Given the description of an element on the screen output the (x, y) to click on. 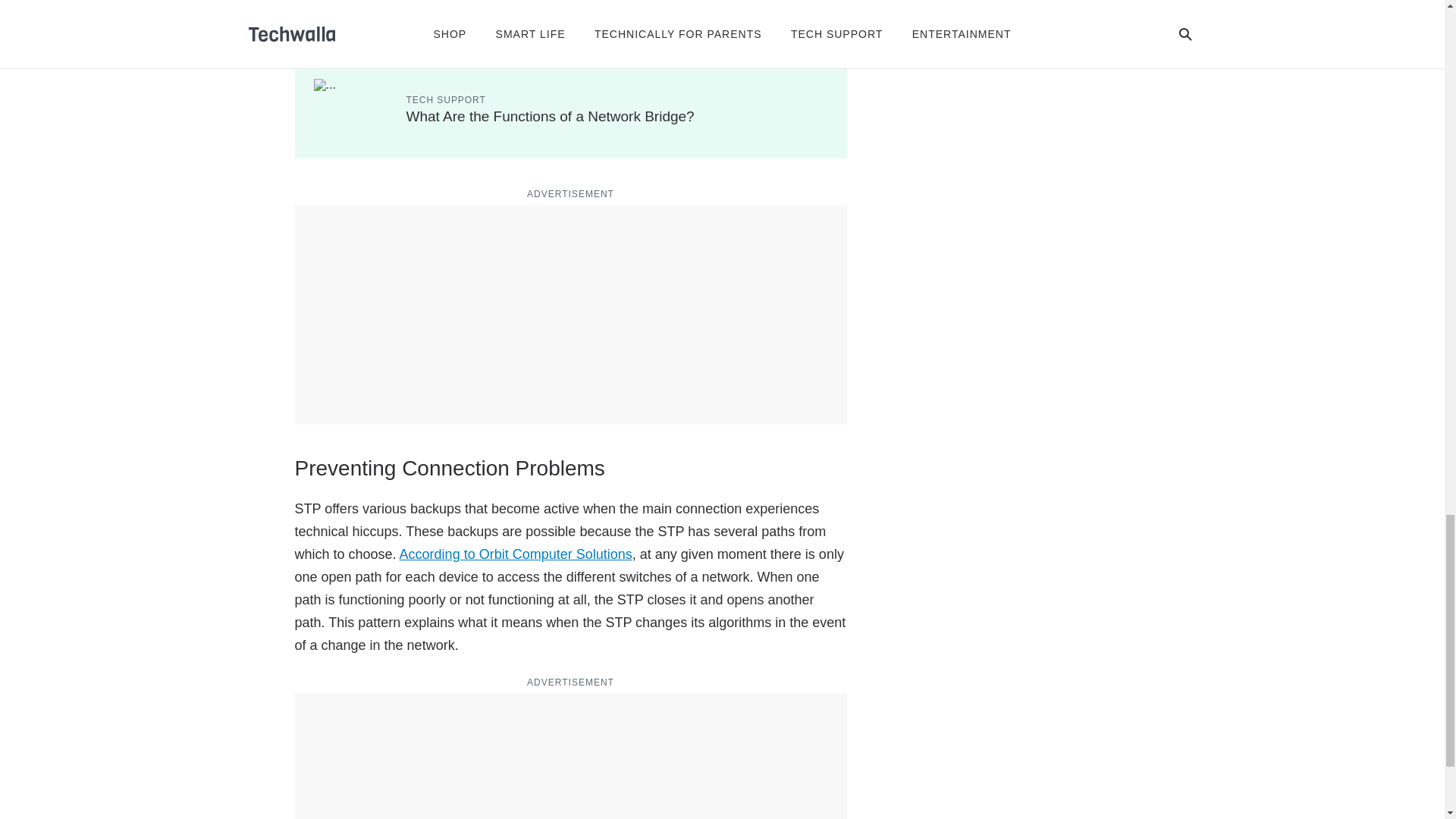
According to Orbit Computer Solutions (514, 554)
How to Connect Computers That Are on 2 Different Subnets (597, 40)
What Are the Functions of a Network Bridge? (550, 116)
